Given the description of an element on the screen output the (x, y) to click on. 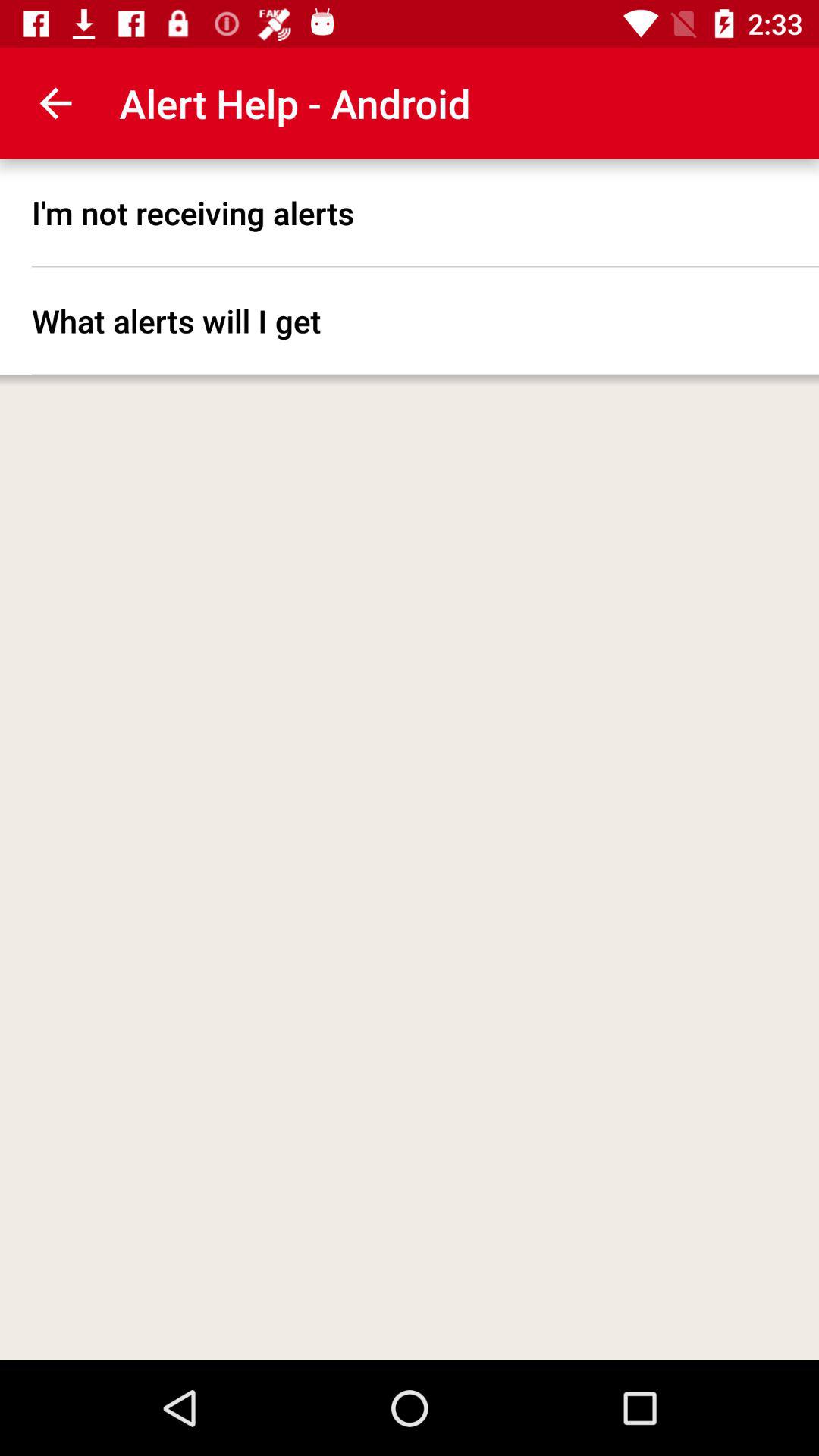
launch the item above i m not (55, 103)
